Given the description of an element on the screen output the (x, y) to click on. 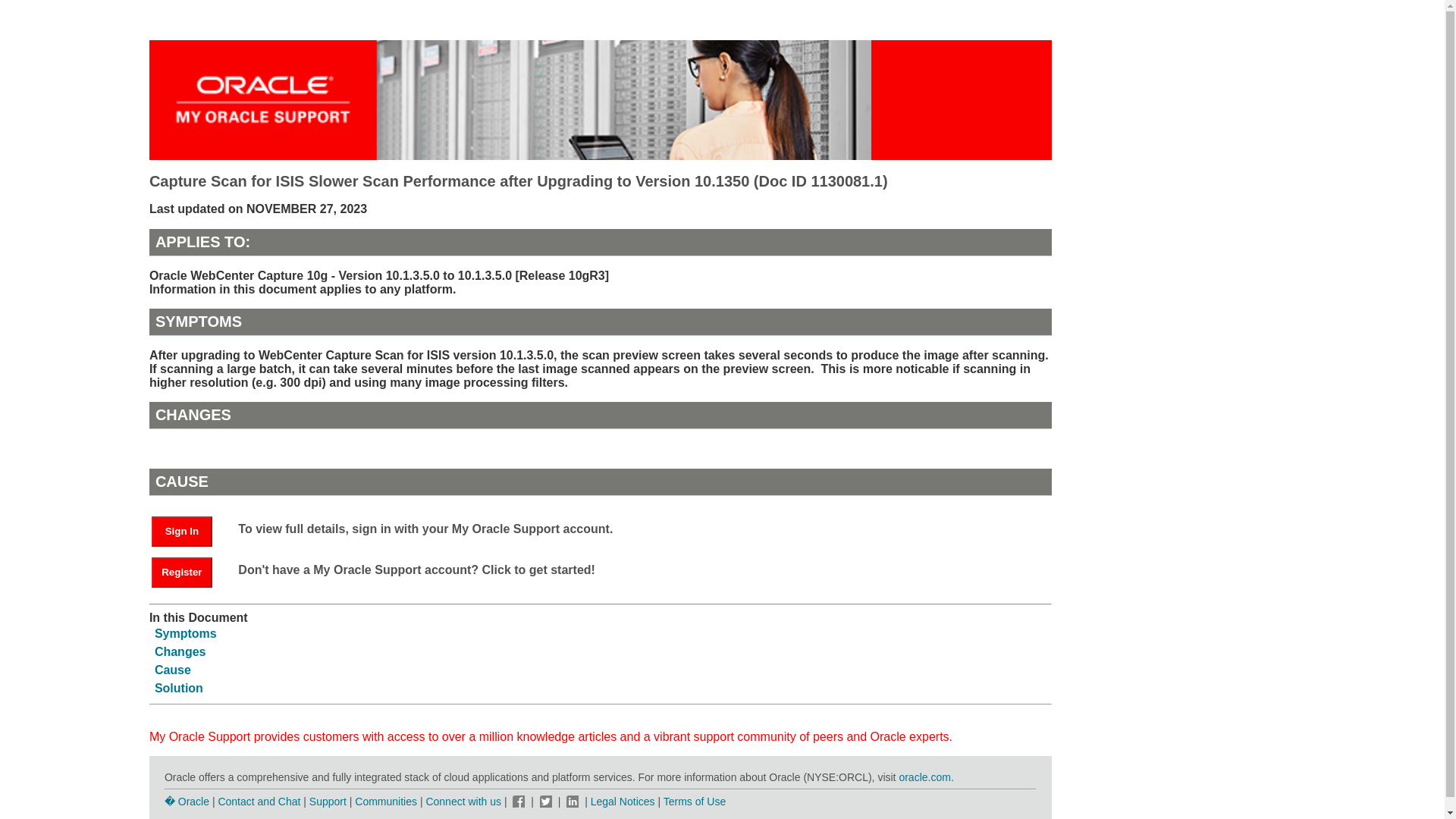
Register (189, 571)
Solution (178, 687)
Contact and Chat (257, 801)
Cause (172, 669)
Register (181, 572)
Support (327, 801)
Connect with us (464, 801)
Sign In (189, 530)
Legal Notices (623, 801)
oracle.com (924, 776)
